Given the description of an element on the screen output the (x, y) to click on. 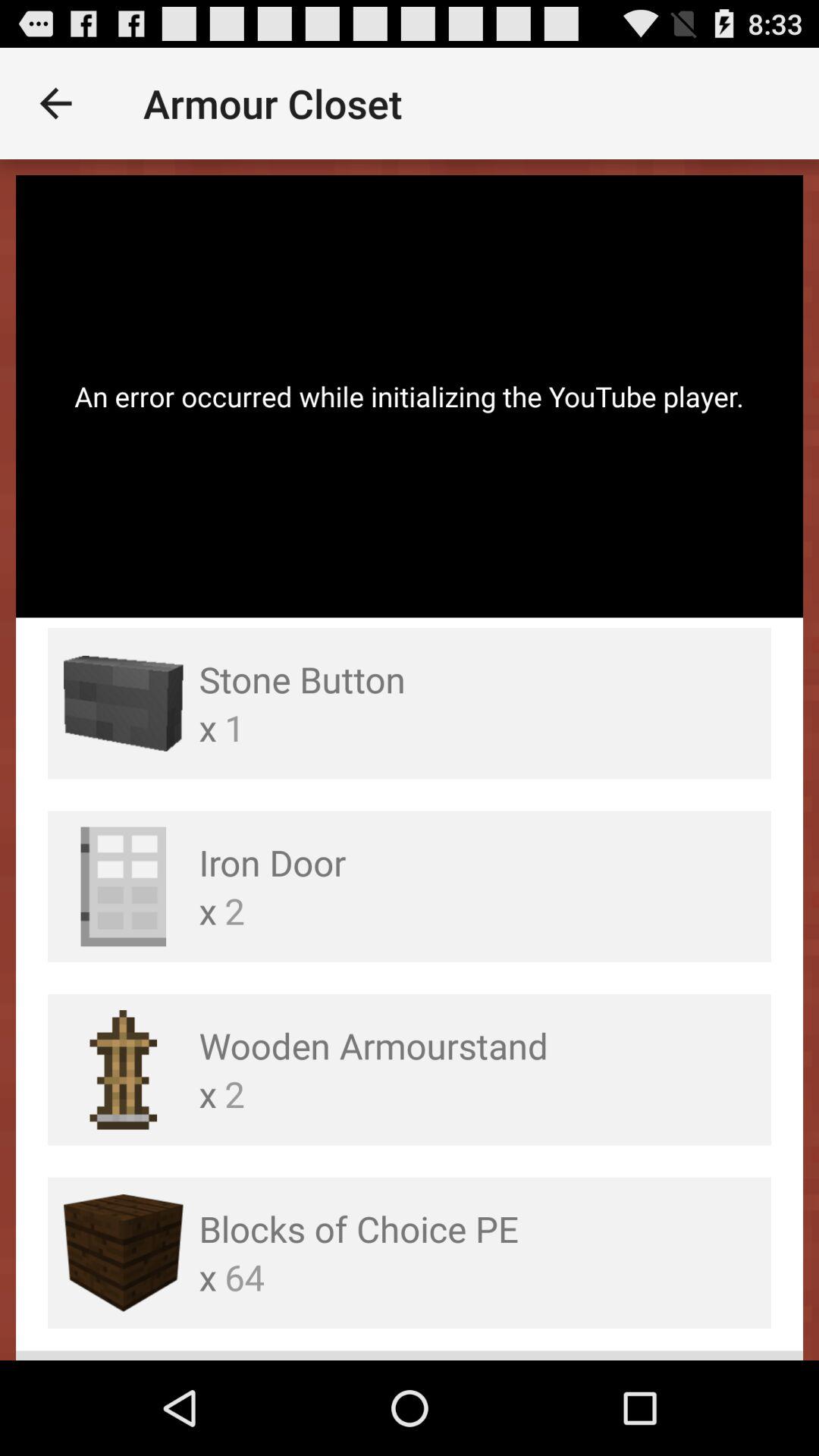
icon left to the text blocks of choice pe (123, 1253)
select the image left to the wooden armourstand (123, 1069)
